Given the description of an element on the screen output the (x, y) to click on. 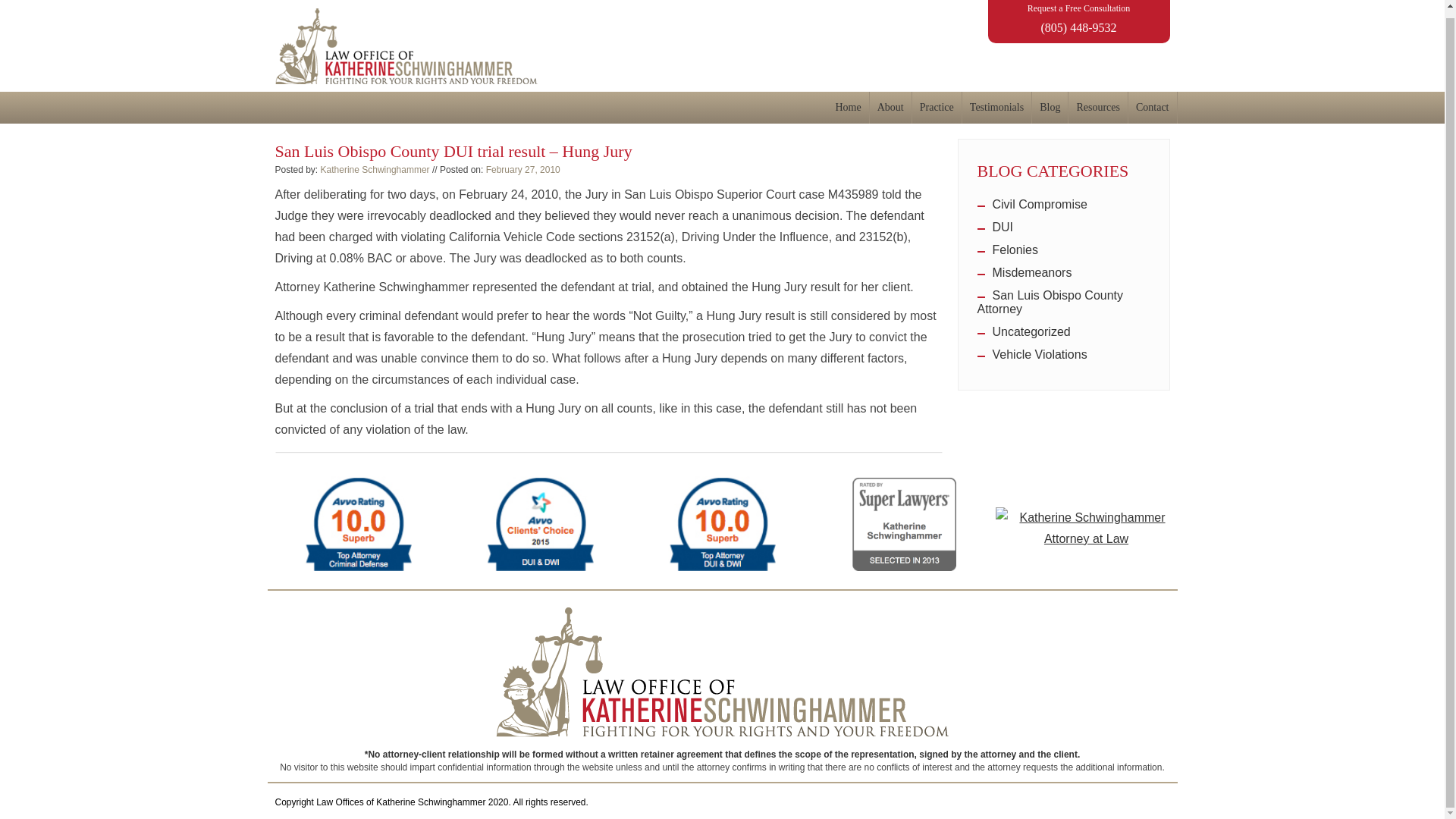
Practice (937, 107)
Misdemeanors (1023, 272)
Home (848, 107)
Civil Compromise (1031, 204)
DUI (994, 226)
Contact (1152, 107)
Felonies (1006, 249)
Testimonials (997, 107)
Uncategorized (1023, 331)
Blog (1050, 107)
